Given the description of an element on the screen output the (x, y) to click on. 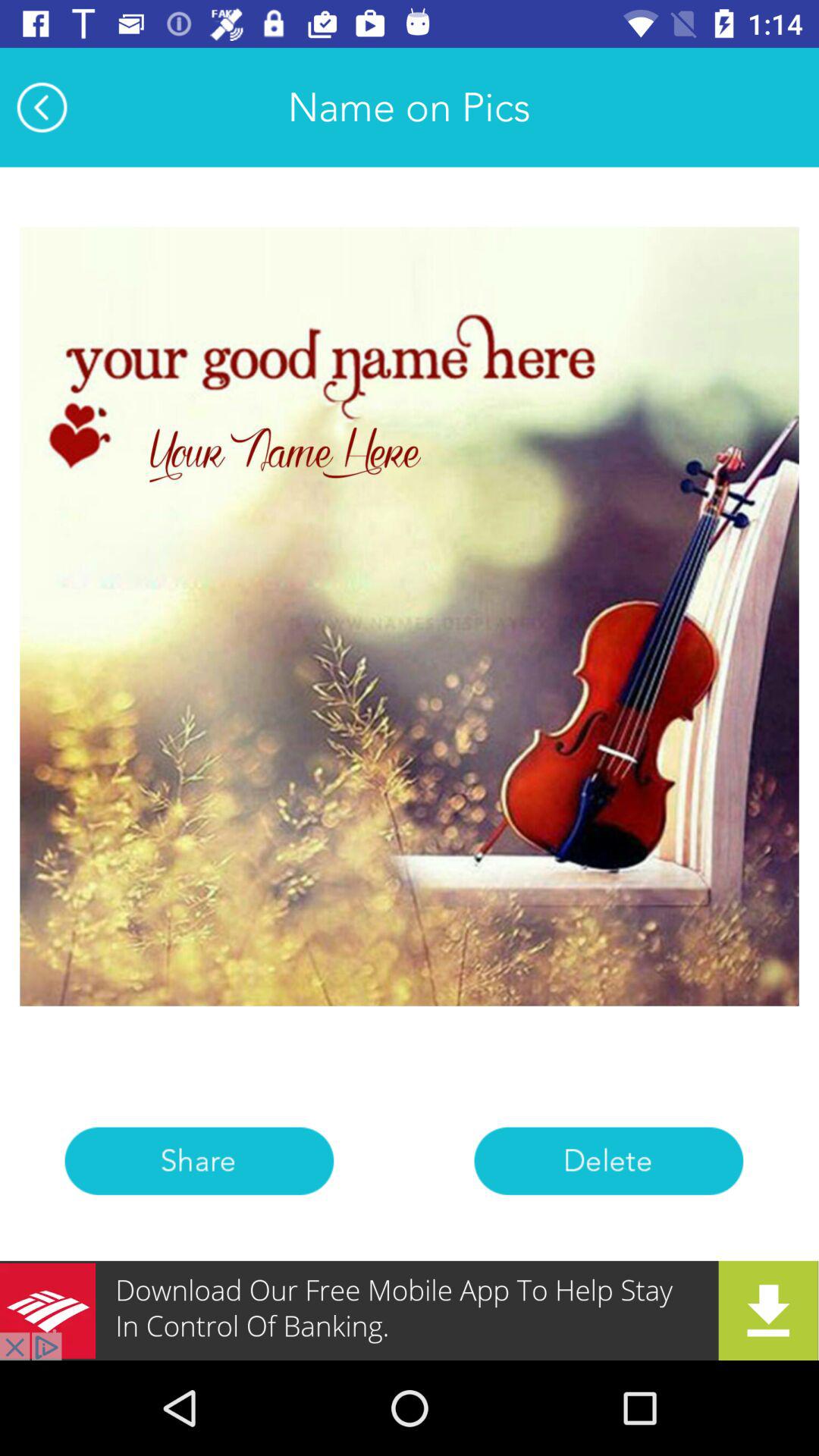
delete option (608, 1160)
